Given the description of an element on the screen output the (x, y) to click on. 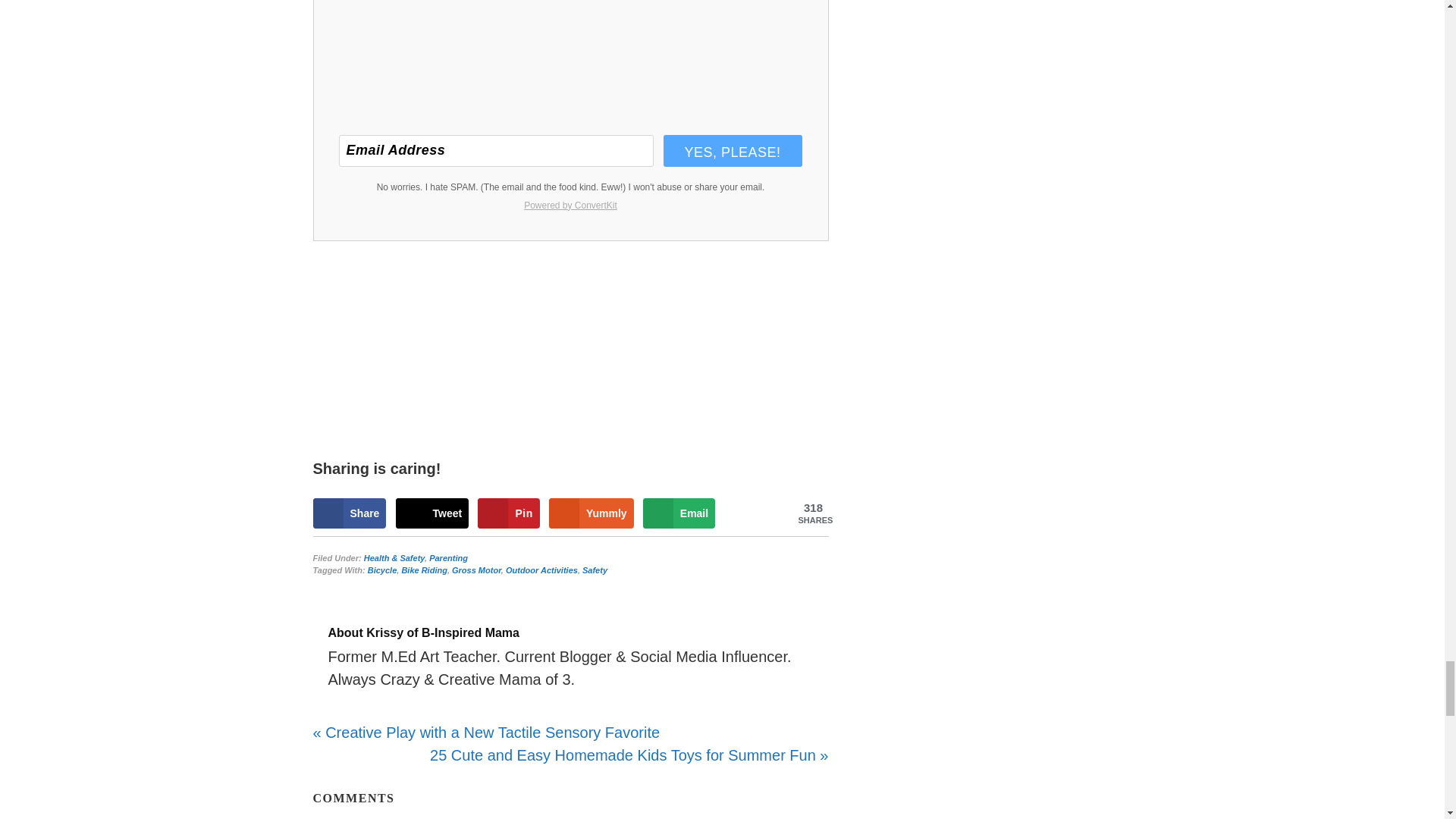
Share on Facebook (349, 512)
Share on X (432, 512)
Save to Pinterest (507, 512)
Send over email (678, 512)
Share on Yummly (590, 512)
